Given the description of an element on the screen output the (x, y) to click on. 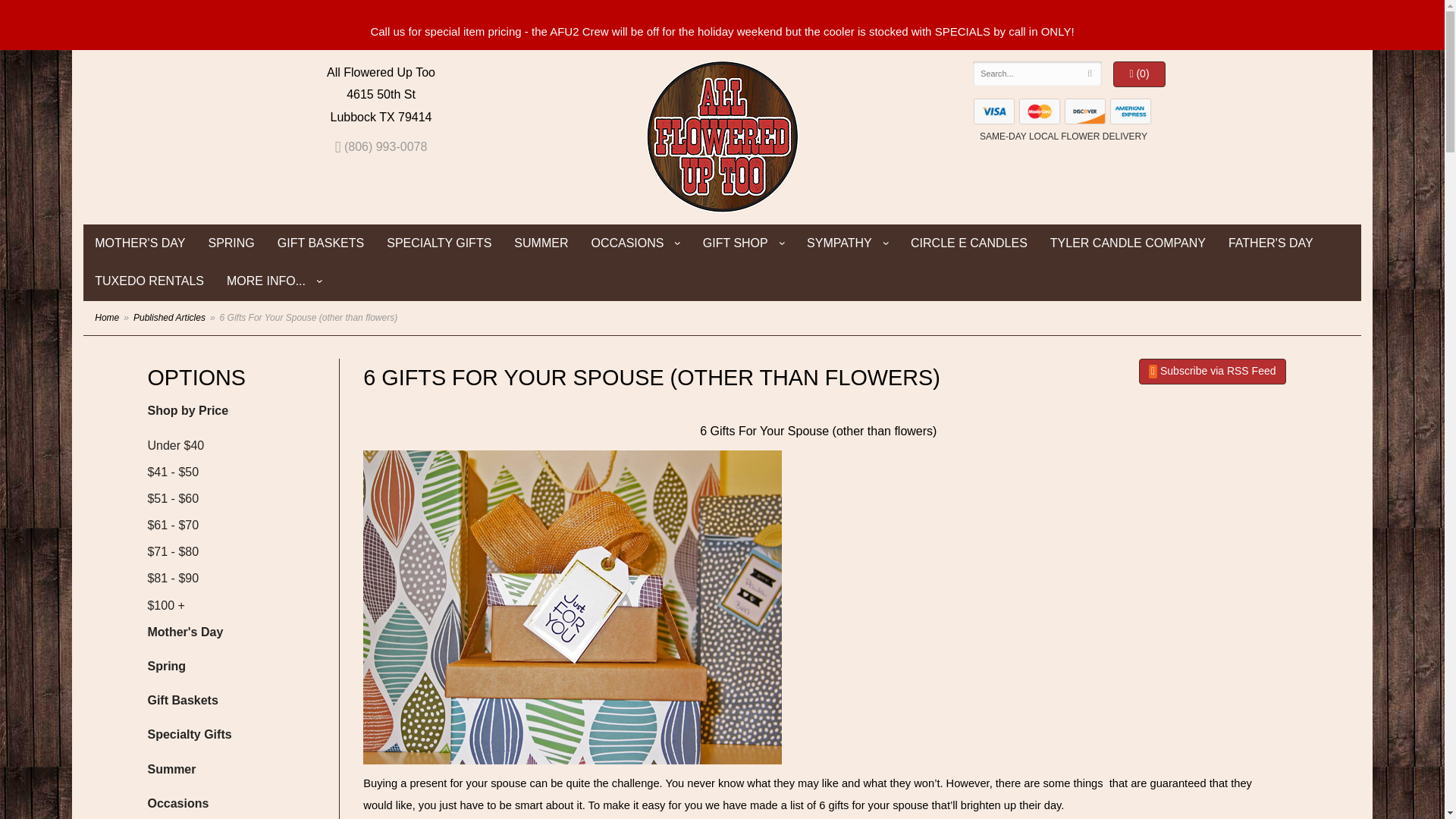
OCCASIONS (634, 243)
GIFT SHOP (742, 243)
SPRING (230, 243)
MOTHER'S DAY (139, 243)
SUMMER (540, 243)
SYMPATHY (846, 243)
GIFT BASKETS (320, 243)
SPECIALTY GIFTS (438, 243)
